Given the description of an element on the screen output the (x, y) to click on. 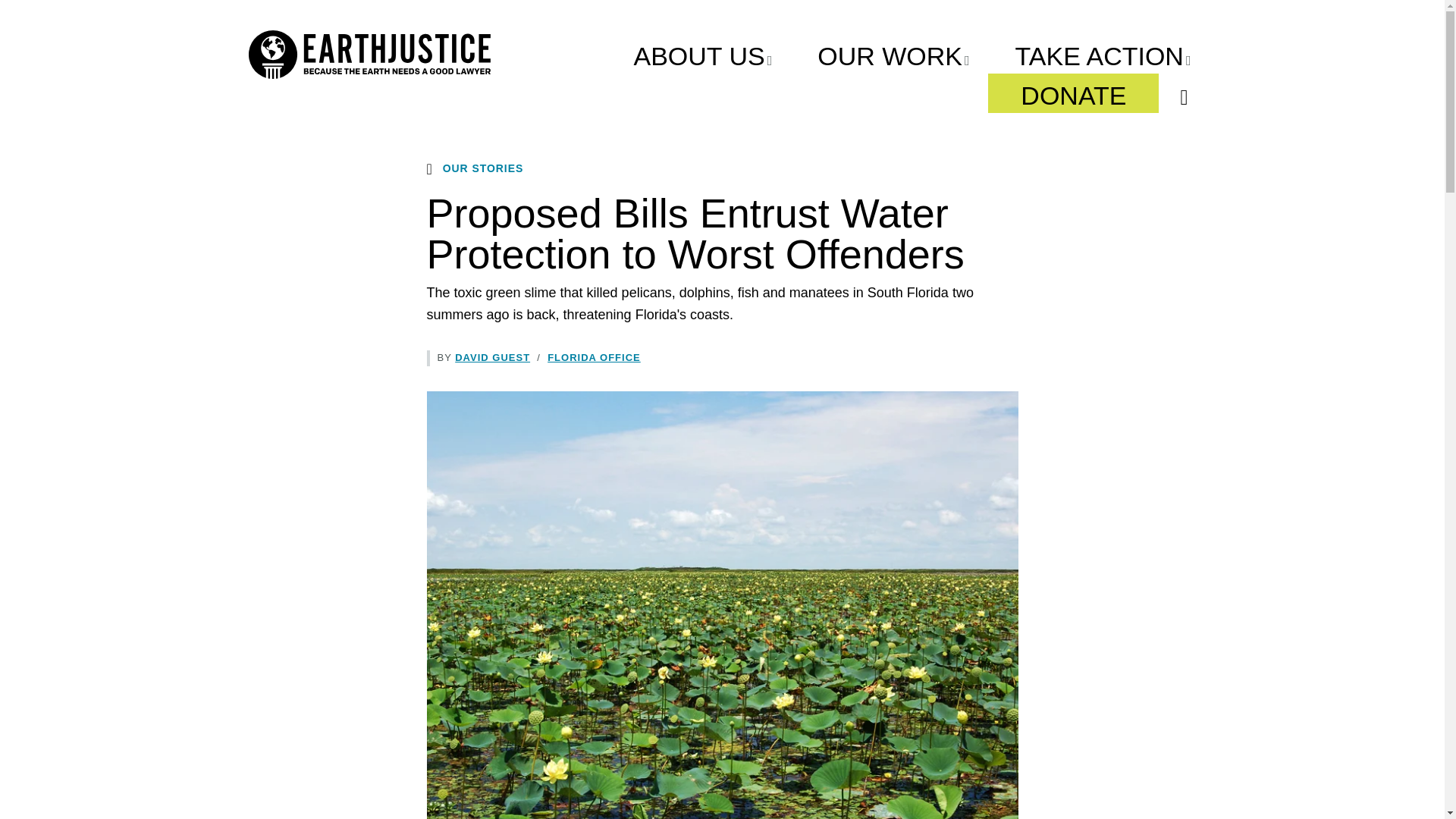
TAKE ACTION (1103, 53)
OUR WORK (892, 53)
Florida Office (593, 357)
ABOUT US (702, 53)
DONATE (1073, 93)
David Guest (491, 357)
